Given the description of an element on the screen output the (x, y) to click on. 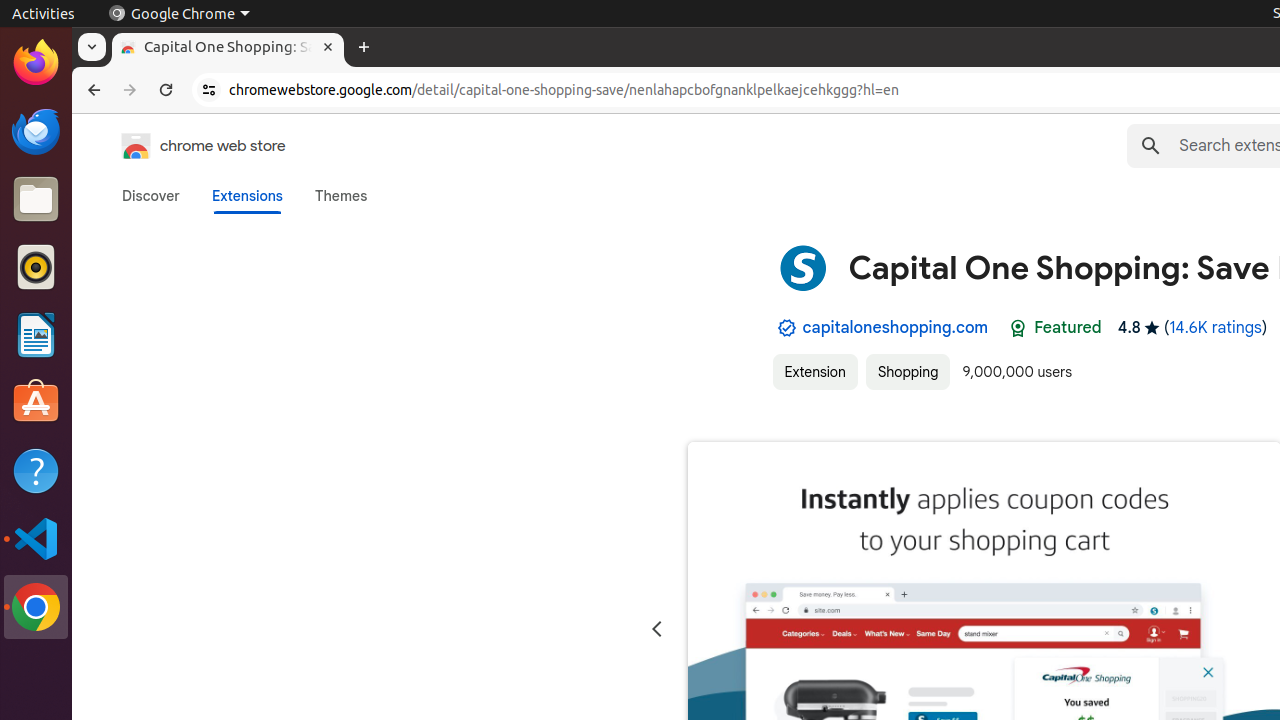
Discover Element type: page-tab (151, 196)
